Given the description of an element on the screen output the (x, y) to click on. 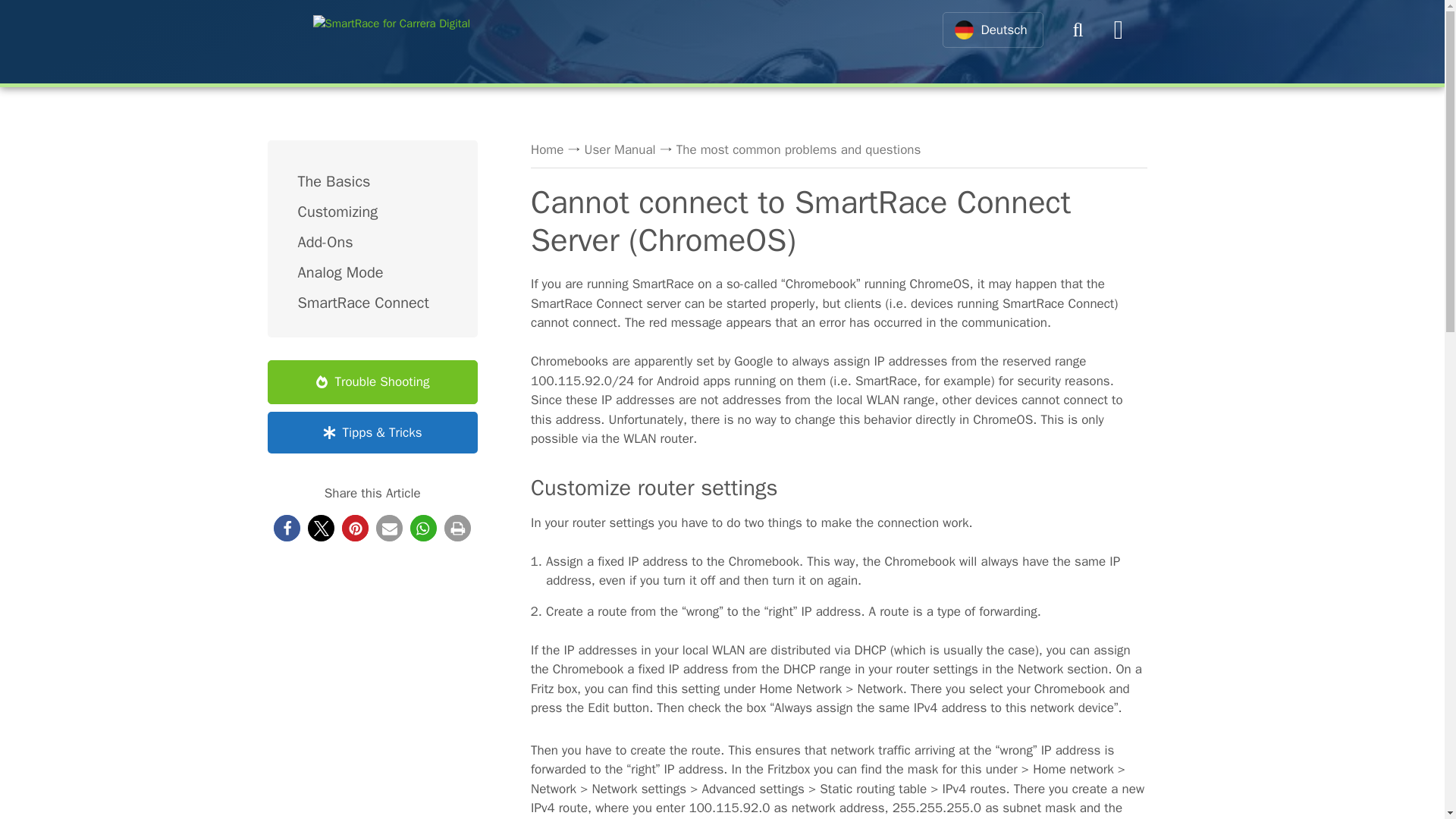
Bei Pinterest pinnen (355, 527)
Bei Whatsapp teilen (423, 527)
Deutsch (992, 29)
Bei X teilen (320, 527)
SmartRace for Carrera Digital (391, 30)
drucken (457, 527)
Per E-Mail versenden (389, 527)
Bei Facebook teilen (286, 527)
